Given the description of an element on the screen output the (x, y) to click on. 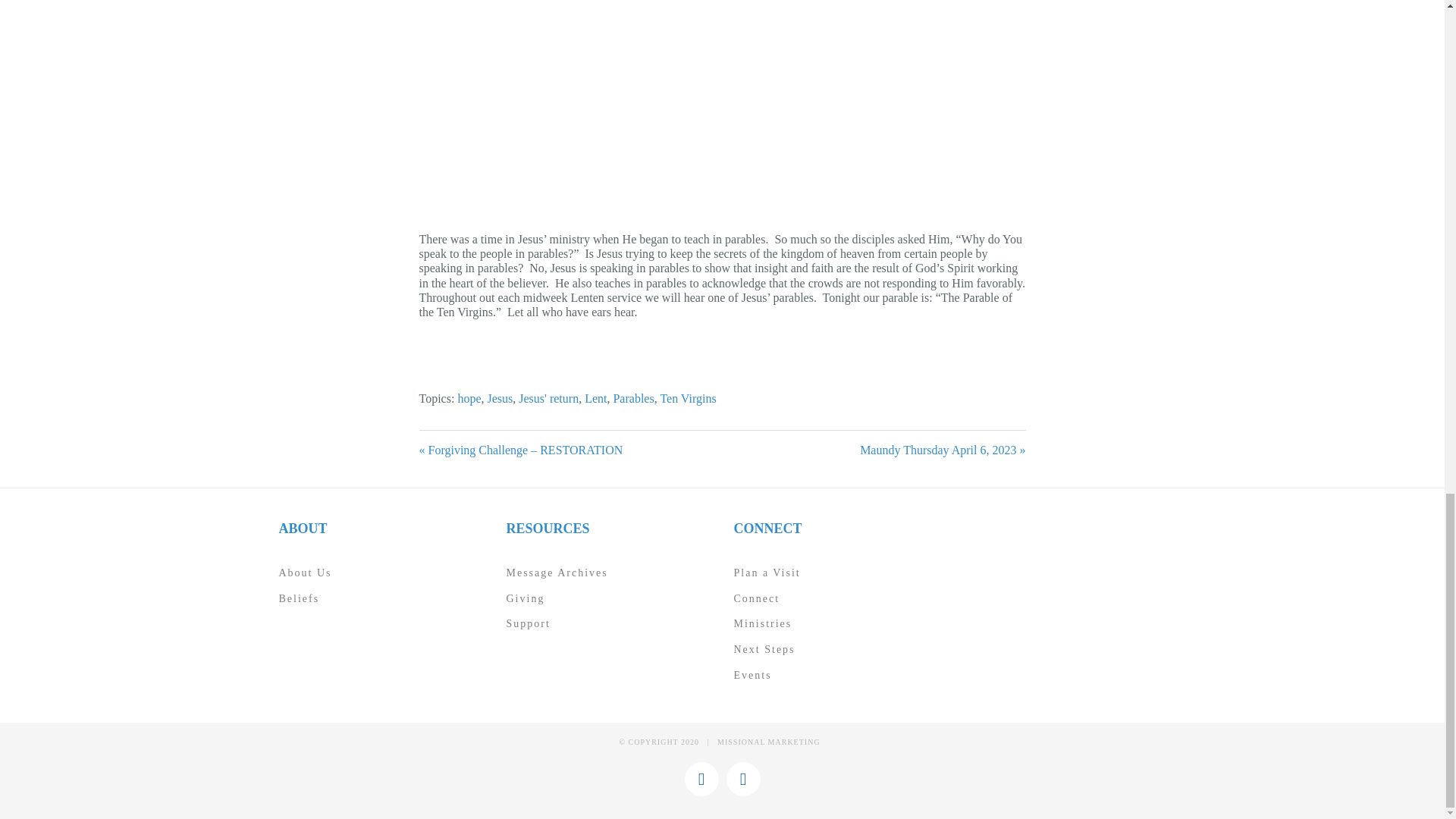
Facebook (743, 779)
YouTube video player (721, 105)
YouTube (700, 779)
